Given the description of an element on the screen output the (x, y) to click on. 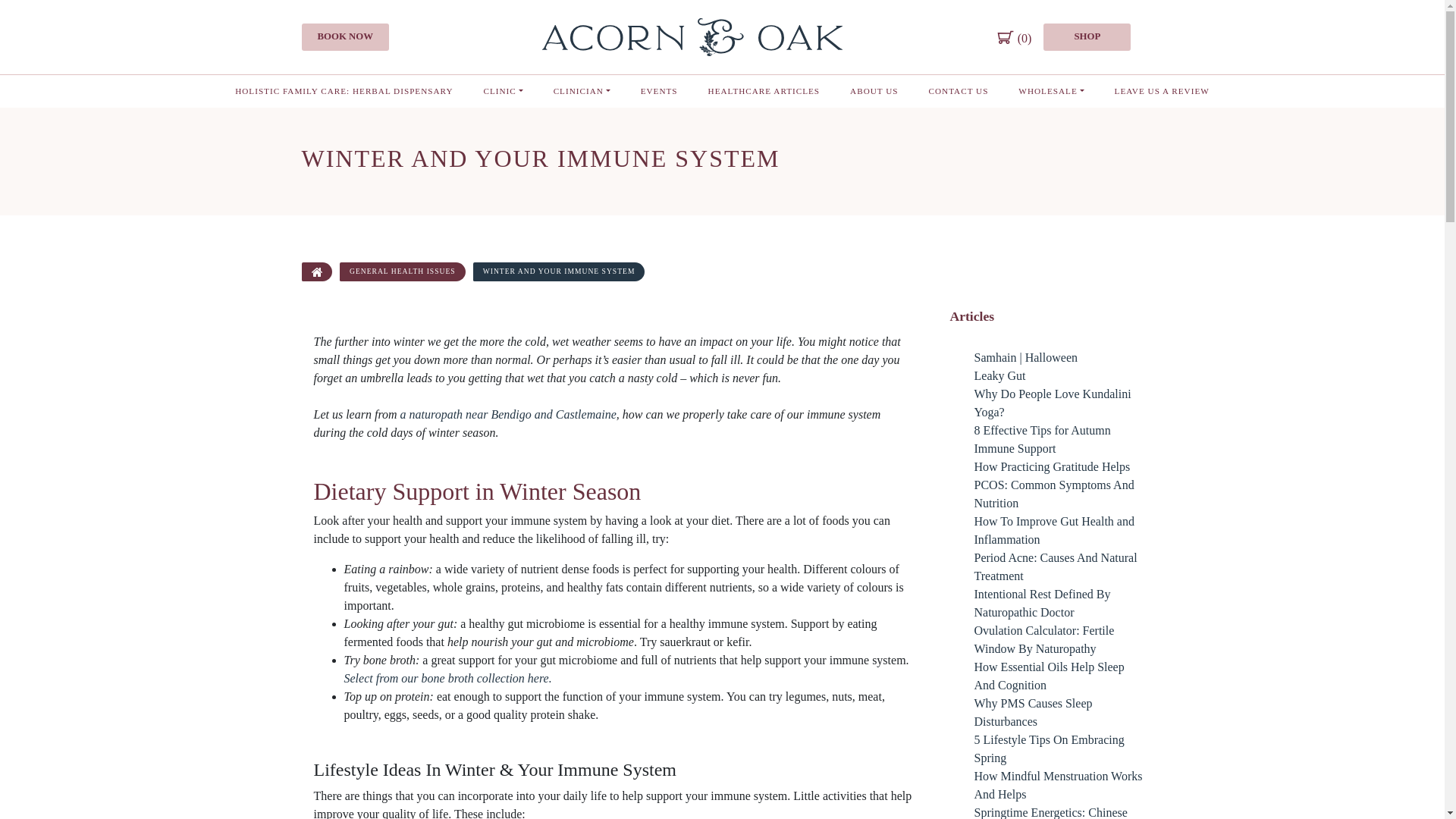
HOLISTIC FAMILY CARE: HERBAL DISPENSARY (343, 91)
WHOLESALE (1051, 91)
Clinic (503, 91)
CLINIC (503, 91)
CLINICIAN (582, 91)
SHOP (1087, 36)
EVENTS (659, 91)
Acorn and Oak Apothecary (692, 37)
ABOUT US (873, 91)
HEALTHCARE ARTICLES (764, 91)
